Given the description of an element on the screen output the (x, y) to click on. 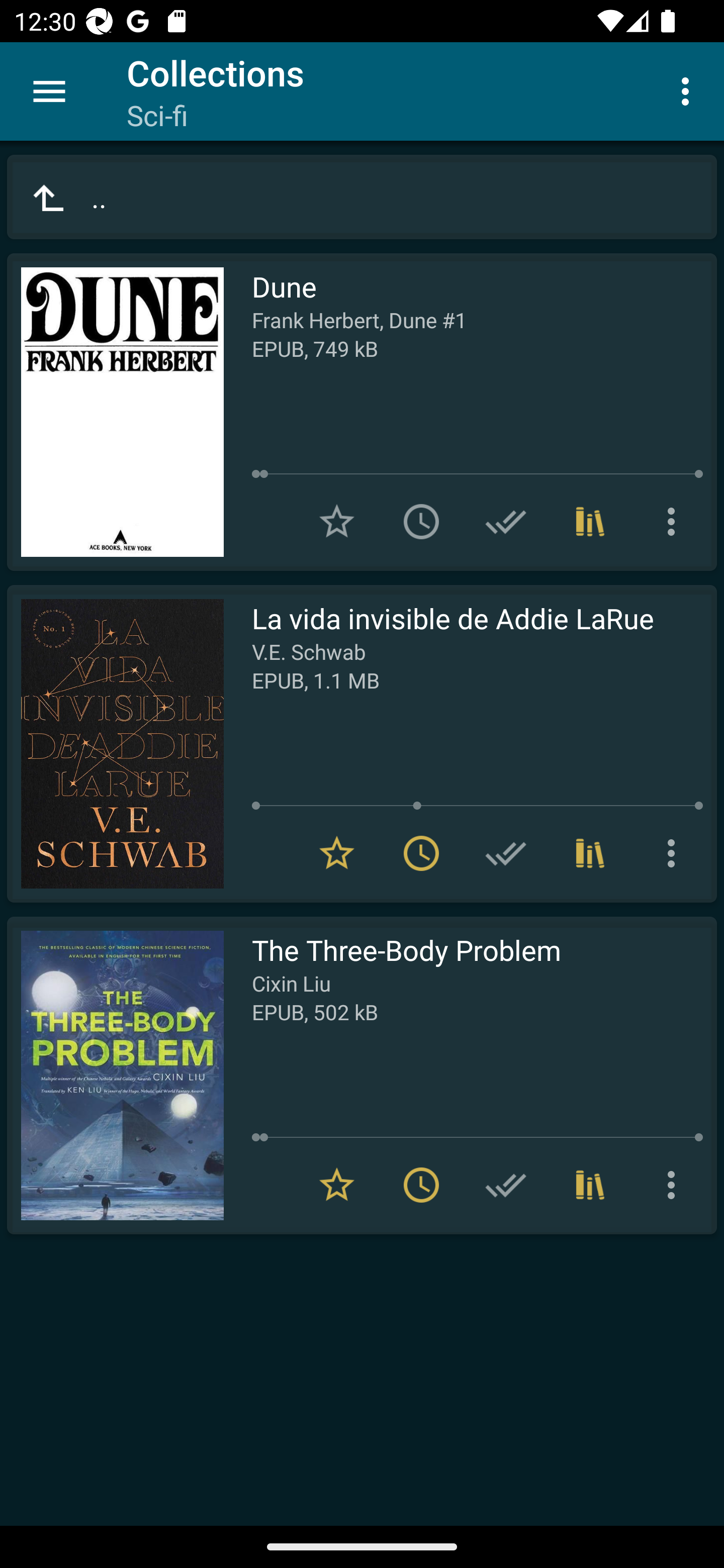
Menu (49, 91)
More options (688, 90)
.. (361, 197)
Read Dune (115, 412)
Add to Favorites (336, 521)
Add to To read (421, 521)
Add to Have read (505, 521)
Collections (1) (590, 521)
More options (674, 521)
Read La vida invisible de Addie LaRue (115, 743)
Remove from Favorites (336, 852)
Remove from To read (421, 852)
Add to Have read (505, 852)
Collections (1) (590, 852)
More options (674, 852)
Read The Three-Body Problem (115, 1075)
Remove from Favorites (336, 1185)
